Given the description of an element on the screen output the (x, y) to click on. 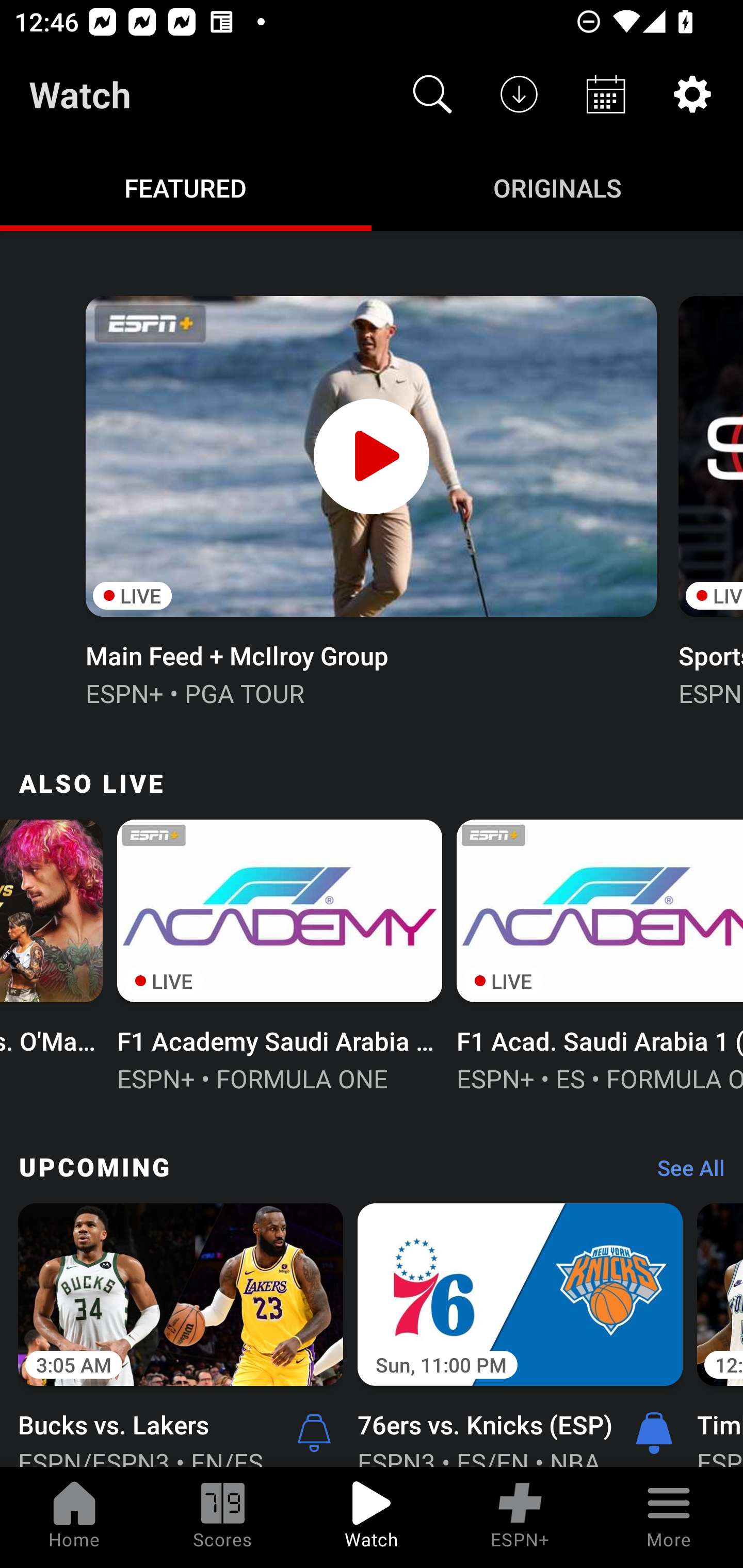
Search (432, 93)
Downloads (518, 93)
Schedule (605, 93)
Settings (692, 93)
Originals ORIGINALS (557, 187)
 LIVE Main Feed + McIlroy Group ESPN+ • PGA TOUR (370, 499)
See All (683, 1172)
Alerts (314, 1432)
Home (74, 1517)
Scores (222, 1517)
ESPN+ (519, 1517)
More (668, 1517)
